Given the description of an element on the screen output the (x, y) to click on. 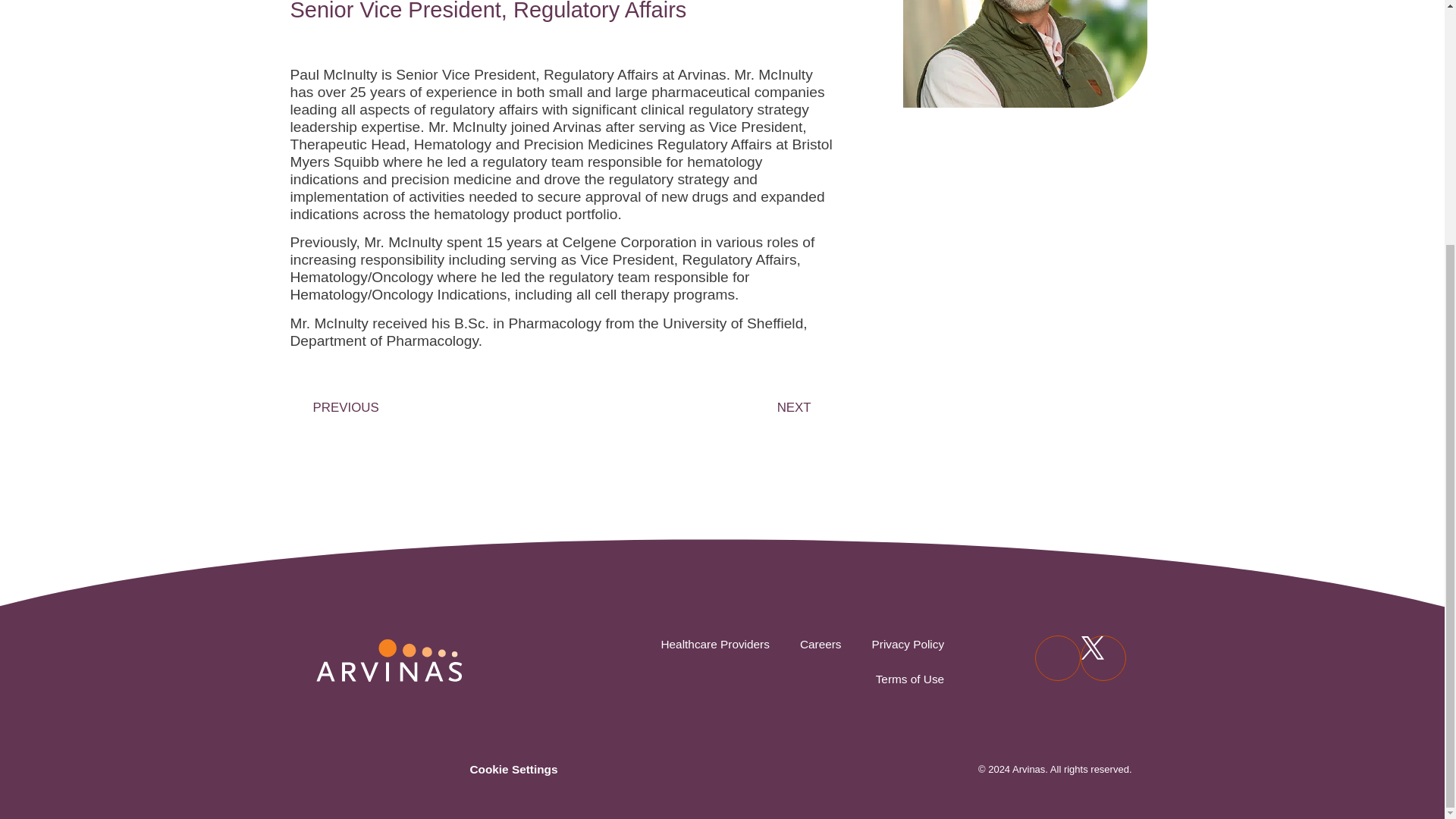
arvn-logo-rgb-ko (388, 662)
Privacy Policy (908, 644)
Healthcare Providers (714, 644)
Careers (820, 644)
Cookie Settings (512, 769)
PREVIOUS (429, 407)
Terms of Use (909, 678)
NEXT (694, 407)
